Given the description of an element on the screen output the (x, y) to click on. 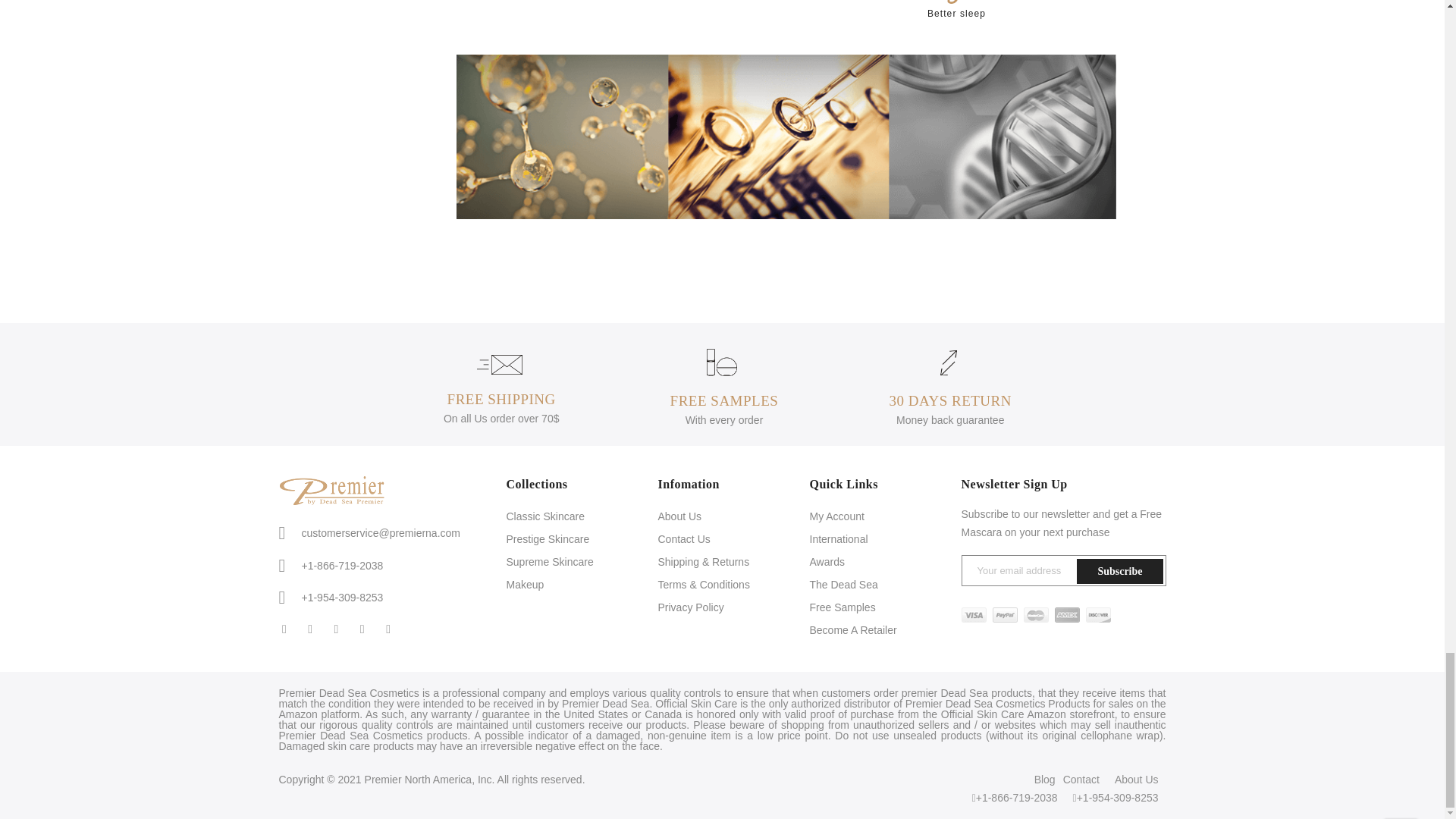
Subscribe (1119, 570)
